Given the description of an element on the screen output the (x, y) to click on. 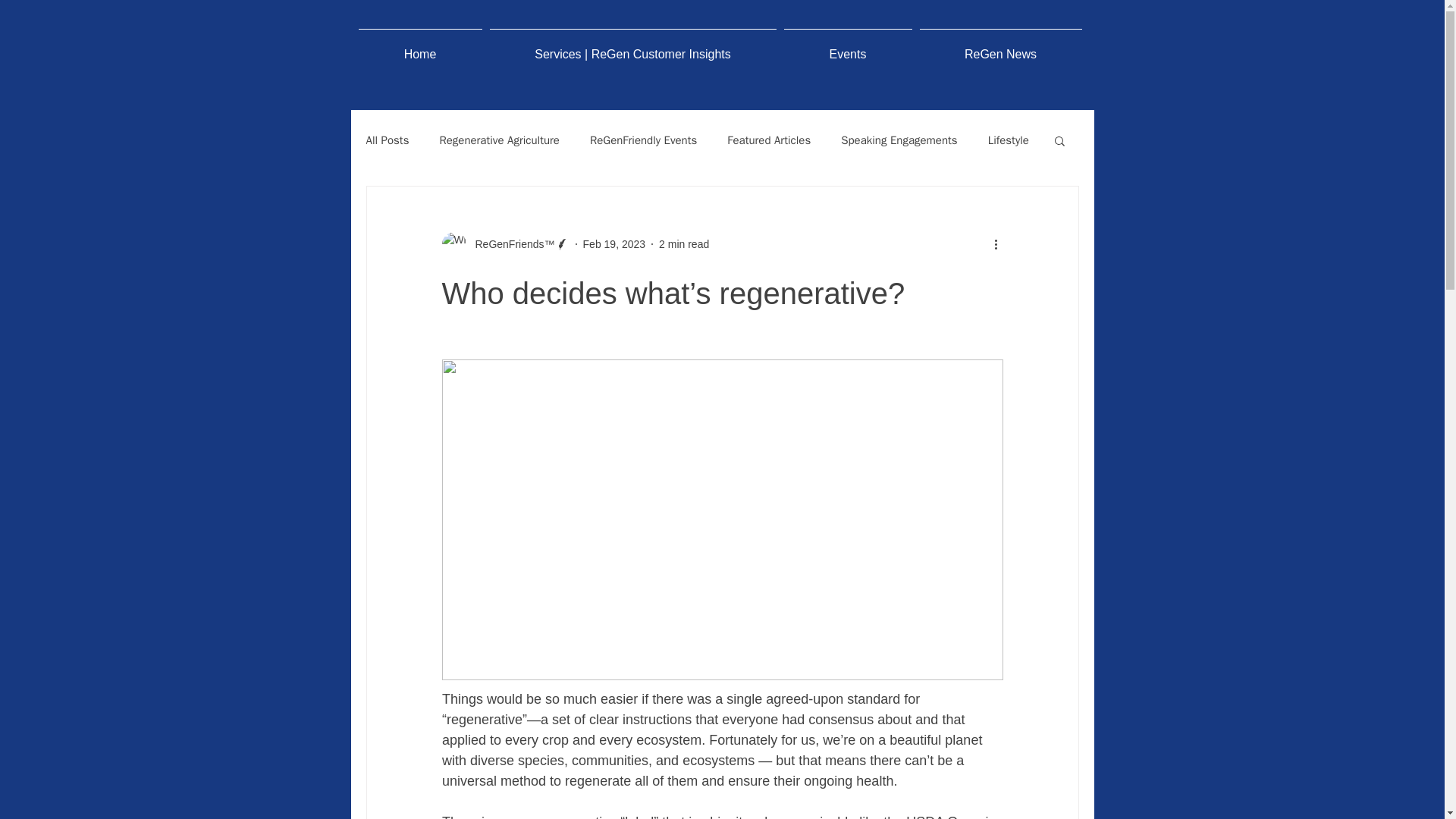
Regenerative Agriculture (499, 140)
ReGen News (1000, 47)
All Posts (387, 140)
2 min read (684, 244)
Feb 19, 2023 (614, 244)
Featured Articles (768, 140)
Home (420, 47)
Events (846, 47)
ReGenFriendly Events (643, 140)
Lifestyle (1008, 140)
Speaking Engagements (898, 140)
